Given the description of an element on the screen output the (x, y) to click on. 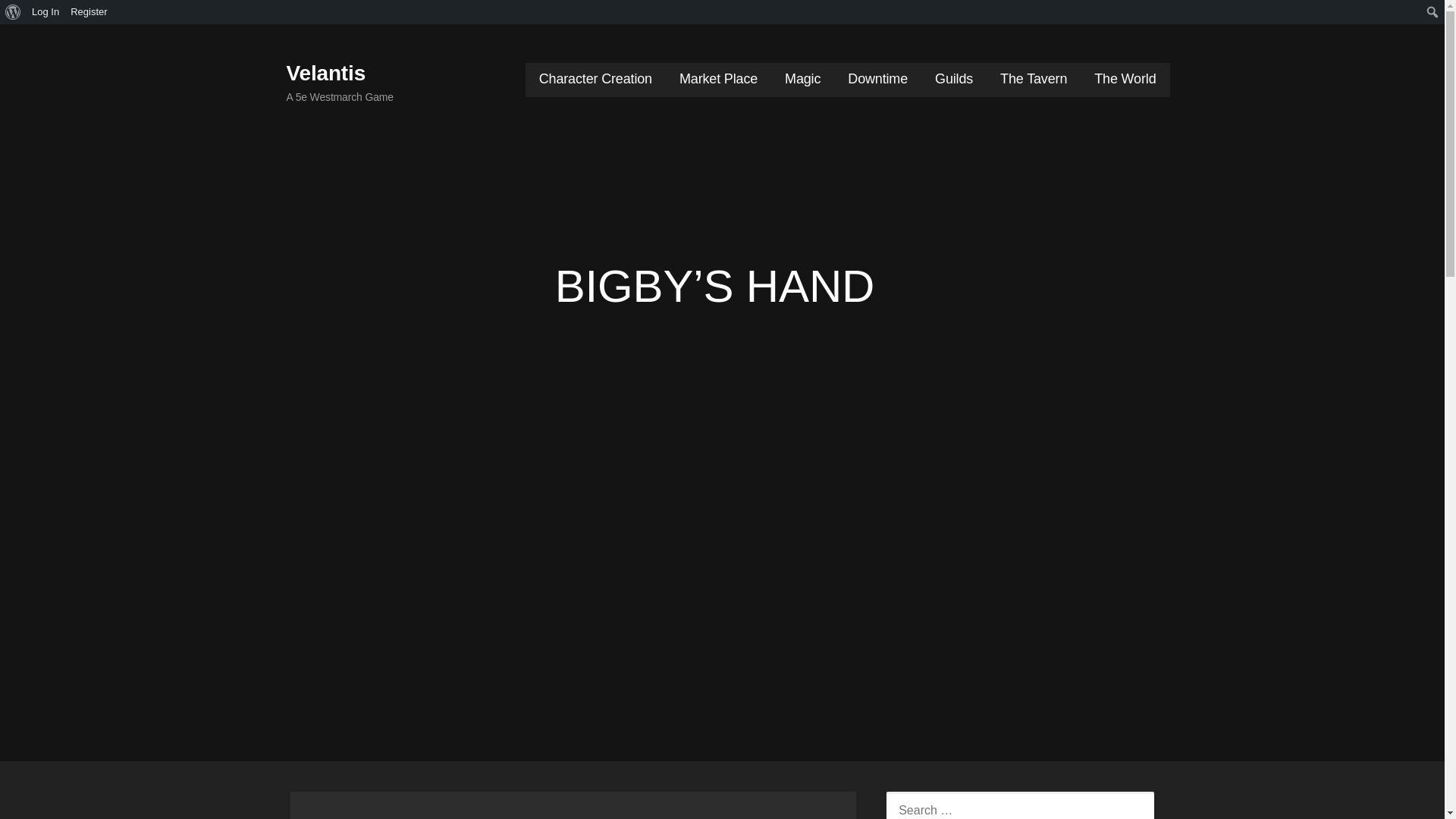
Character Creation (595, 80)
Velantis (326, 73)
Market Place (718, 80)
Downtime (877, 80)
Magic (802, 80)
